Given the description of an element on the screen output the (x, y) to click on. 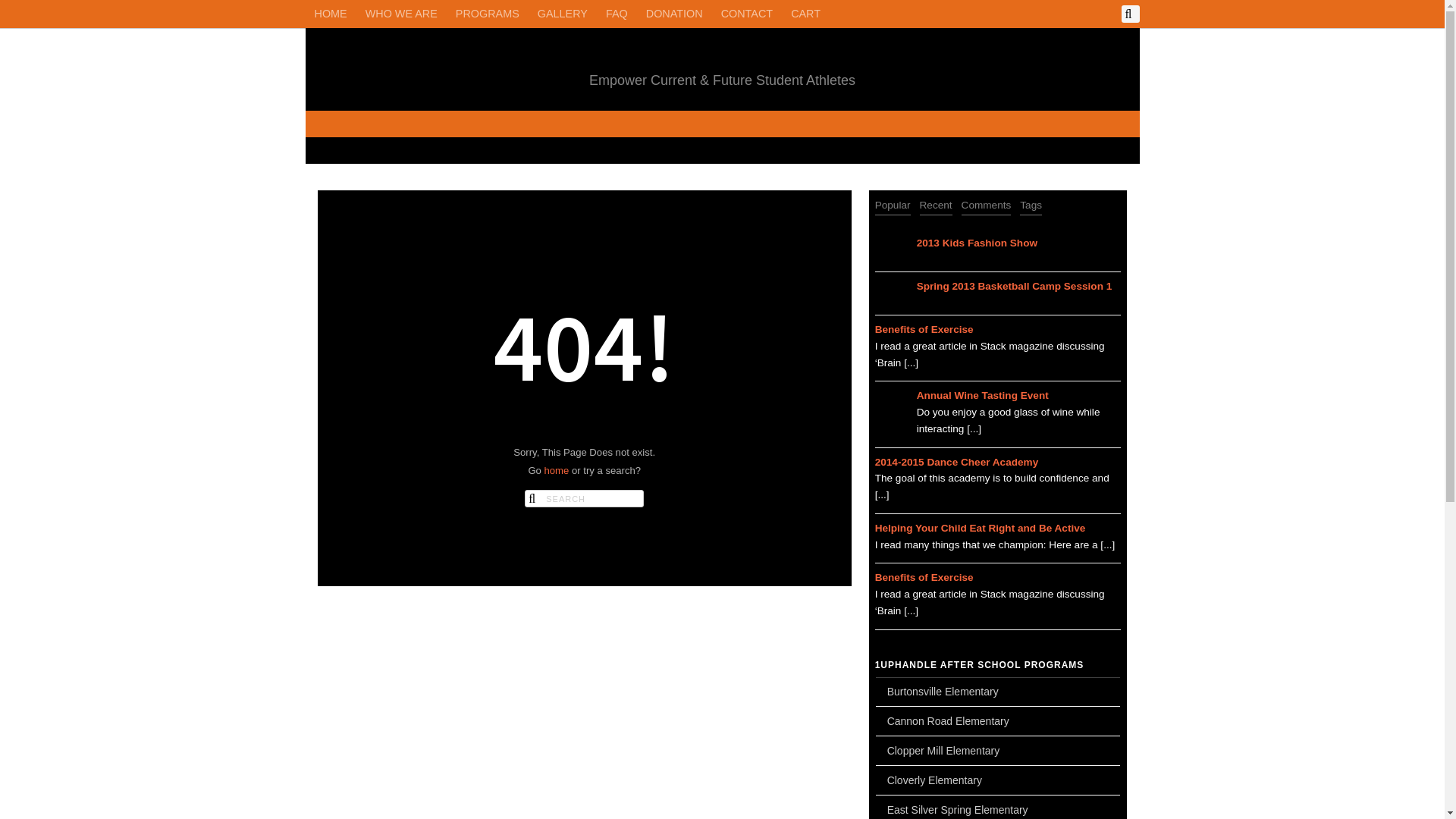
Annual Wine Tasting Event Element type: text (1018, 395)
Clopper Mill Elementary Element type: text (997, 750)
CONTACT Element type: text (746, 14)
2014-2015 Dance Cheer Academy Element type: text (998, 461)
Burtonsville Elementary Element type: text (997, 691)
WHO WE ARE Element type: text (401, 14)
FAQ Element type: text (616, 14)
Tags Element type: text (1030, 205)
Spring 2013 Basketball Camp Session 1 Element type: text (1018, 286)
Cannon Road Elementary Element type: text (997, 720)
Benefits of Exercise Element type: text (998, 577)
HOME Element type: text (329, 14)
Helping Your Child Eat Right and Be Active Element type: text (998, 528)
Benefits of Exercise Element type: text (998, 329)
2013 Kids Fashion Show Element type: text (1018, 243)
GALLERY Element type: text (562, 14)
Popular Element type: text (892, 205)
home Element type: text (556, 470)
Cloverly Elementary Element type: text (997, 779)
Recent Element type: text (935, 205)
Comments Element type: text (986, 205)
CART Element type: text (805, 14)
DONATION Element type: text (674, 14)
PROGRAMS Element type: text (487, 14)
